Given the description of an element on the screen output the (x, y) to click on. 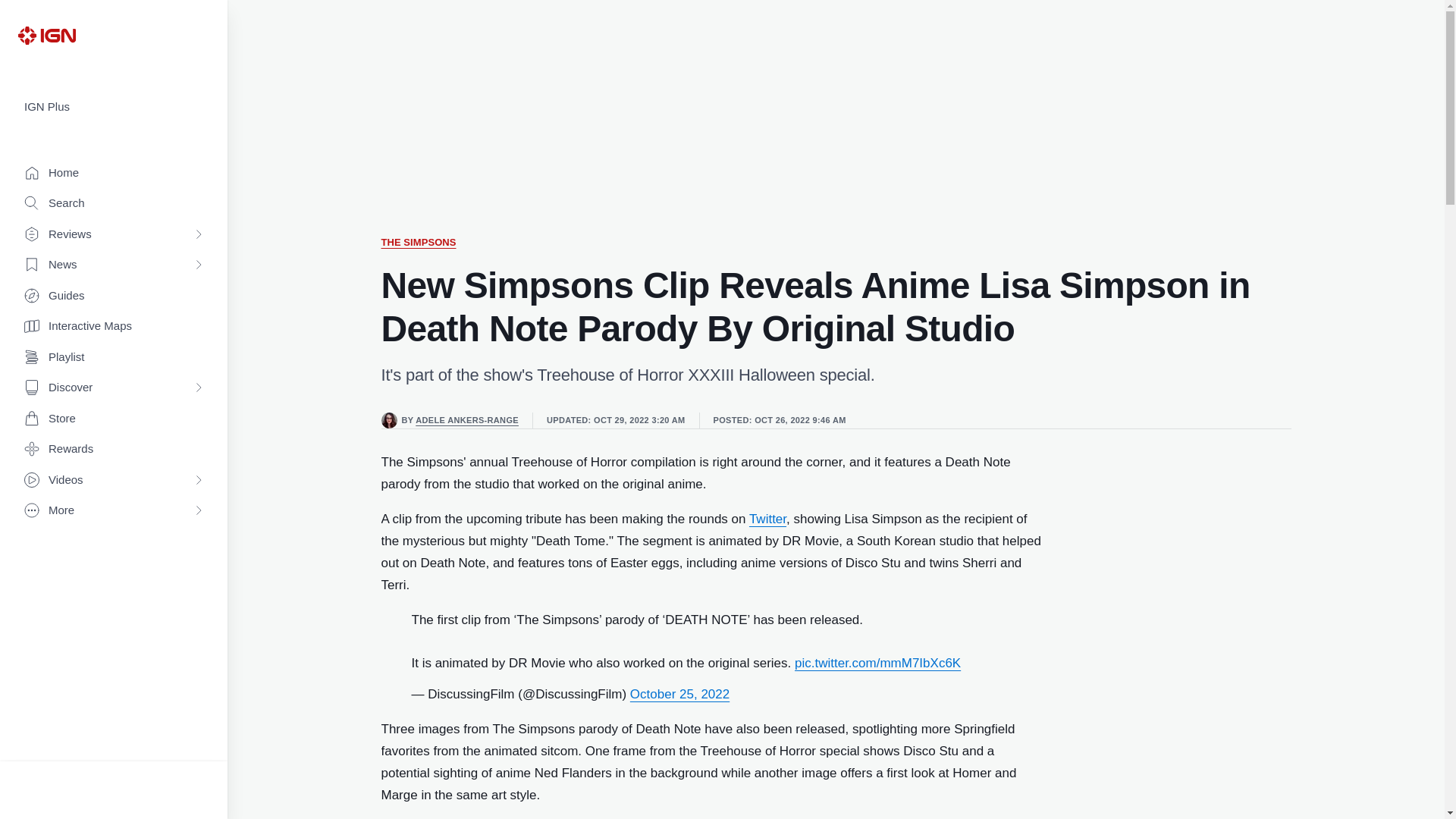
Guides (113, 295)
Guides (113, 295)
Interactive Maps (113, 326)
IGN (46, 35)
Search (113, 203)
Videos (113, 480)
Search (113, 203)
More (113, 510)
IGN Logo (46, 34)
Rewards (113, 449)
News (113, 265)
Videos (113, 480)
Discover (113, 387)
IGN Plus (113, 107)
Playlist (113, 357)
